Given the description of an element on the screen output the (x, y) to click on. 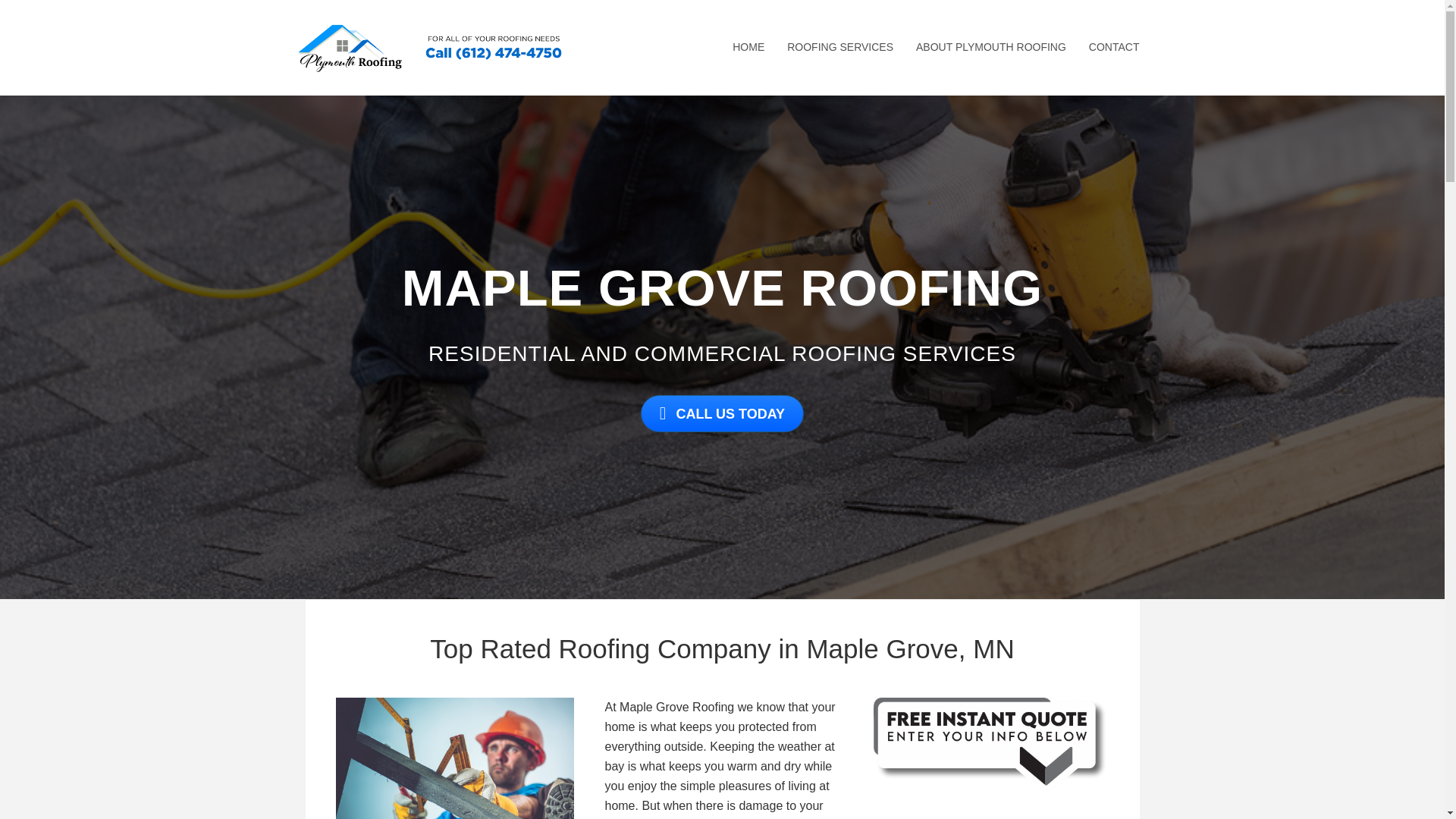
NEW Free Quote - Black (990, 745)
ABOUT PLYMOUTH ROOFING (990, 47)
CALL US TODAY (721, 413)
Plymouth Roofing - Contractor (453, 758)
HOME (748, 47)
CONTACT (1114, 47)
ROOFING SERVICES (840, 47)
